Given the description of an element on the screen output the (x, y) to click on. 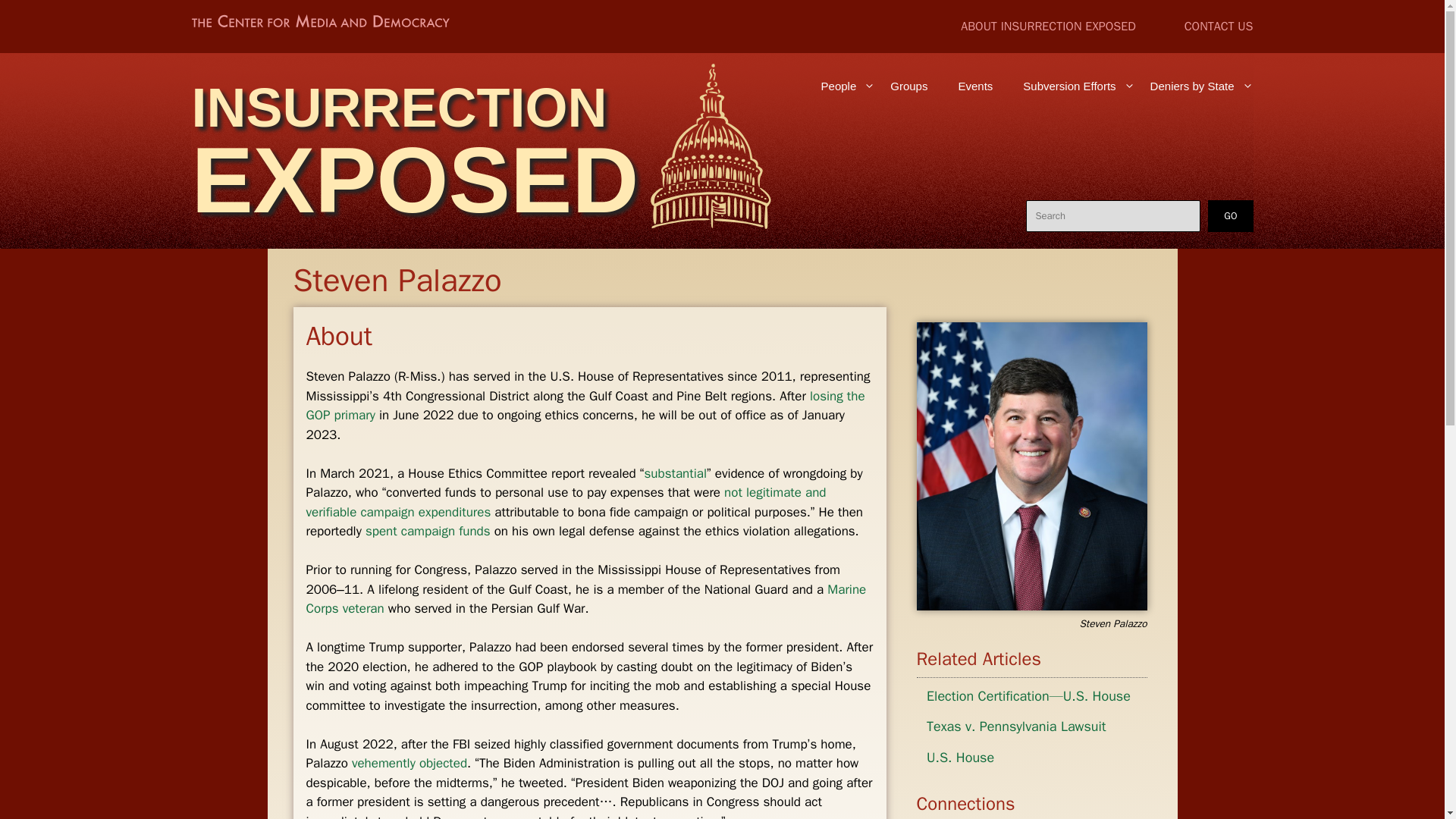
Marine Corps veteran (585, 599)
losing the GOP primary (584, 406)
vehemently objected (409, 763)
substantial (675, 473)
not legitimate and verifiable campaign expenditures (566, 502)
ABOUT INSURRECTION EXPOSED (1047, 26)
Groups (908, 85)
Subversion Efforts (1070, 85)
spent campaign funds (427, 530)
GO (1230, 215)
Deniers by State (1194, 85)
People (841, 85)
The Center for Media and Democracy (319, 24)
Events (974, 85)
CONTACT US (1219, 26)
